Given the description of an element on the screen output the (x, y) to click on. 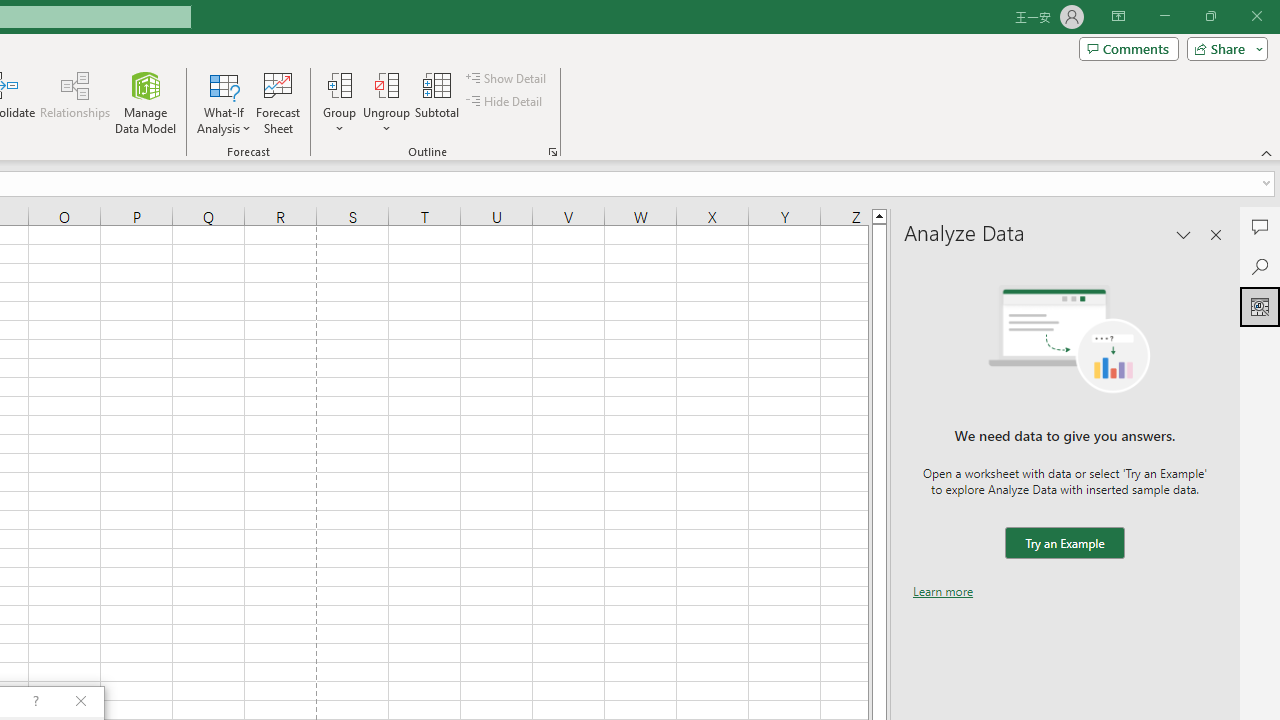
We need data to give you answers. Try an Example (1064, 543)
Learn more (943, 591)
